Given the description of an element on the screen output the (x, y) to click on. 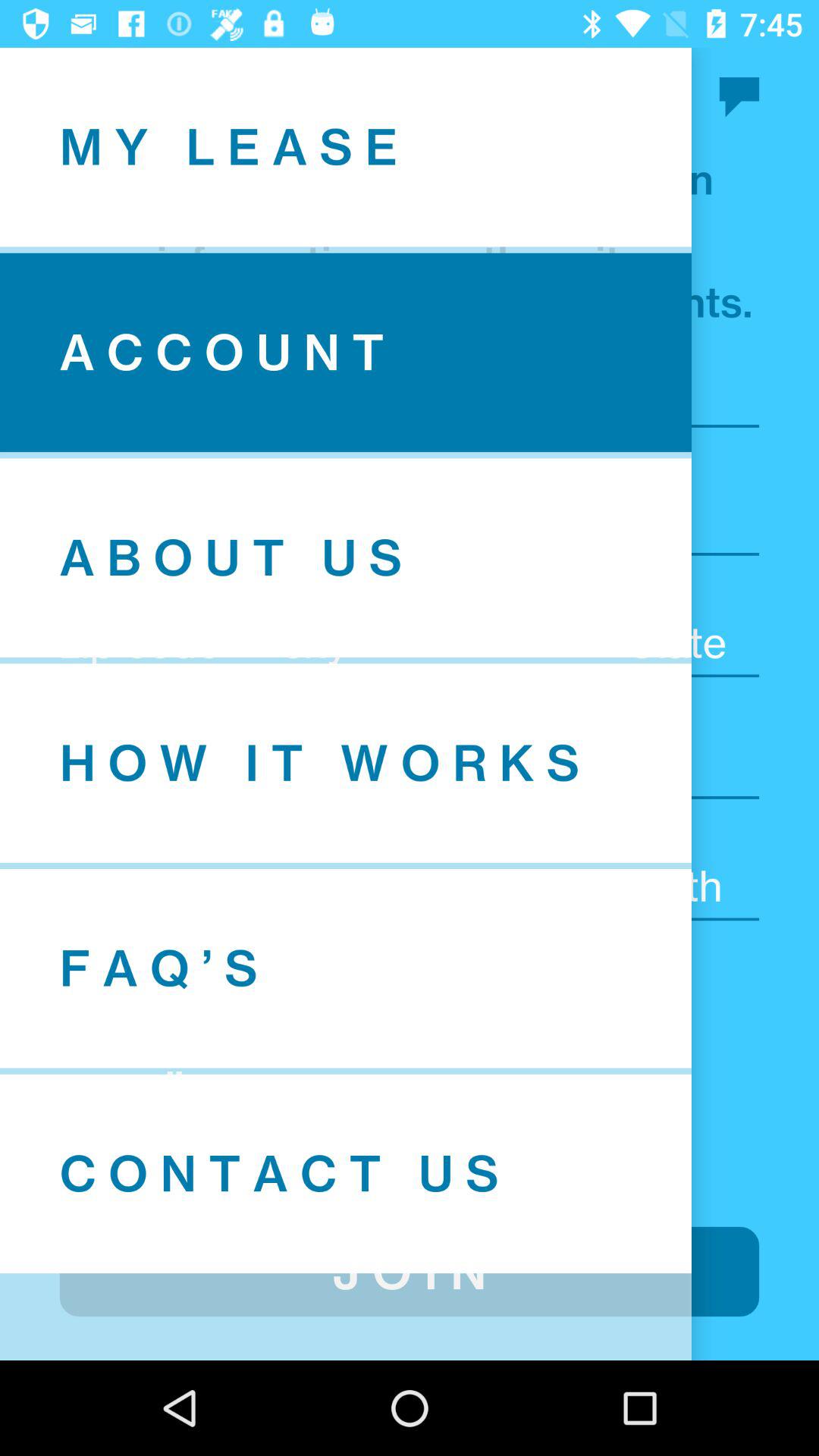
click the join button (409, 1271)
